Given the description of an element on the screen output the (x, y) to click on. 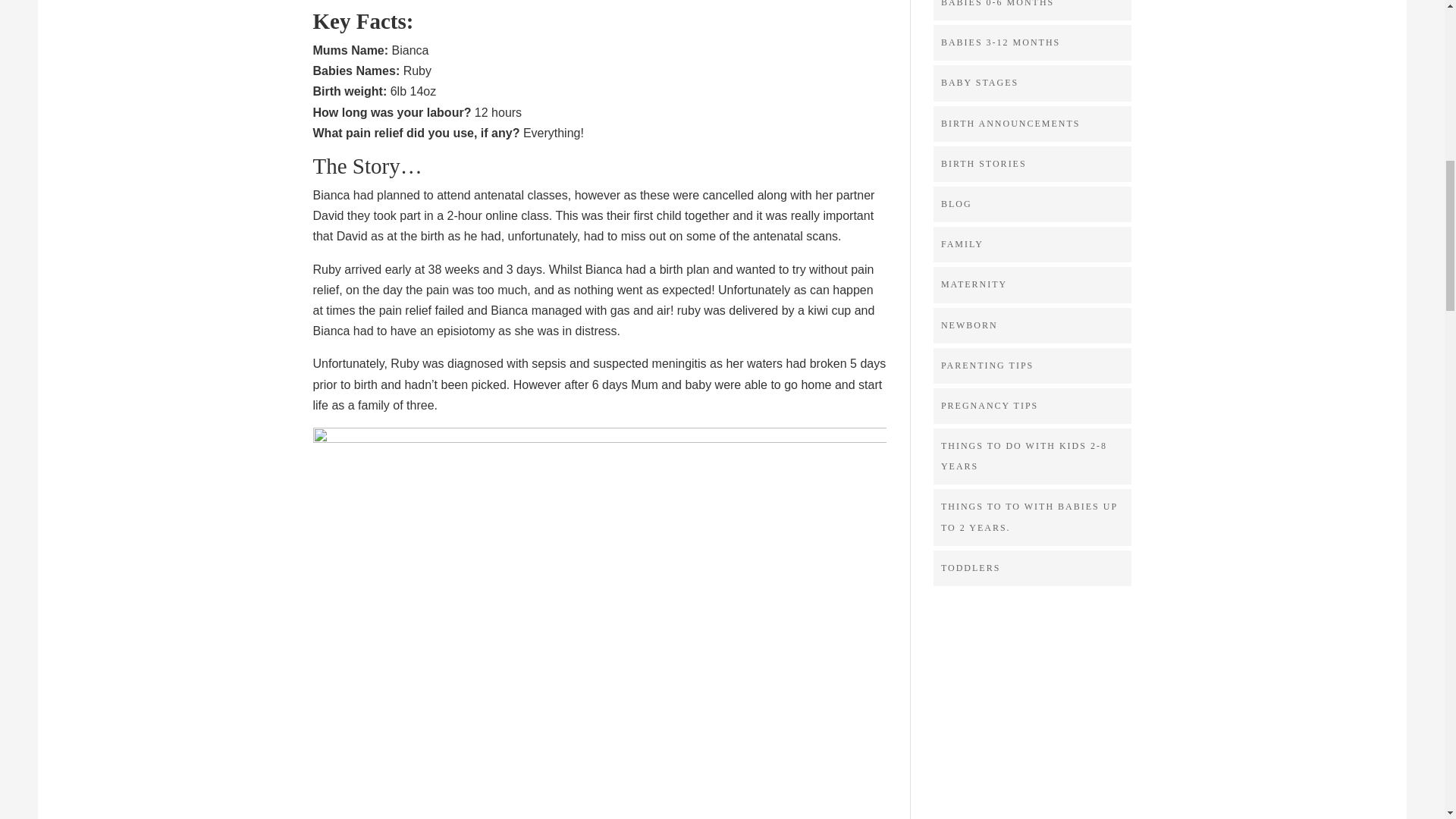
PARENTING TIPS (986, 365)
BIRTH ANNOUNCEMENTS (1010, 122)
FAMILY (962, 244)
NEWBORN (968, 325)
MATERNITY (973, 284)
PREGNANCY TIPS (989, 405)
BABIES 3-12 MONTHS (999, 41)
BLOG (956, 204)
BABY STAGES (978, 81)
BIRTH STORIES (983, 163)
BABIES 0-6 MONTHS (997, 3)
THINGS TO DO WITH KIDS 2-8 YEARS (1023, 455)
